Given the description of an element on the screen output the (x, y) to click on. 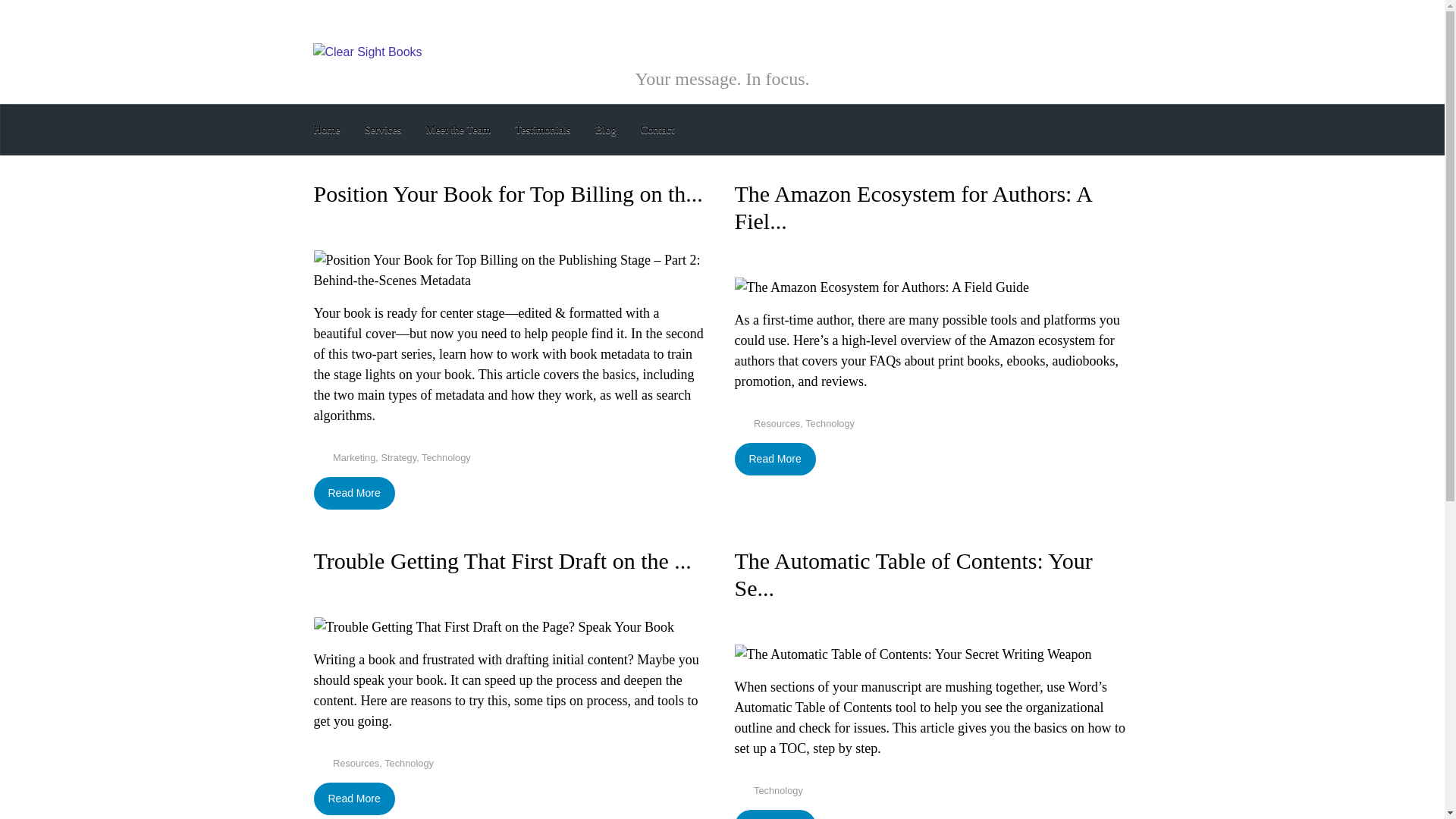
The Amazon Ecosystem for Authors: A Fiel... (911, 206)
Resources (355, 763)
Read More (774, 459)
Technology (408, 763)
Technology (446, 457)
Read More (354, 798)
Resources (776, 423)
Position Your Book for Top Billing on th... (508, 193)
The Automatic Table of Contents: Your Se... (912, 573)
Marketing (354, 457)
